Given the description of an element on the screen output the (x, y) to click on. 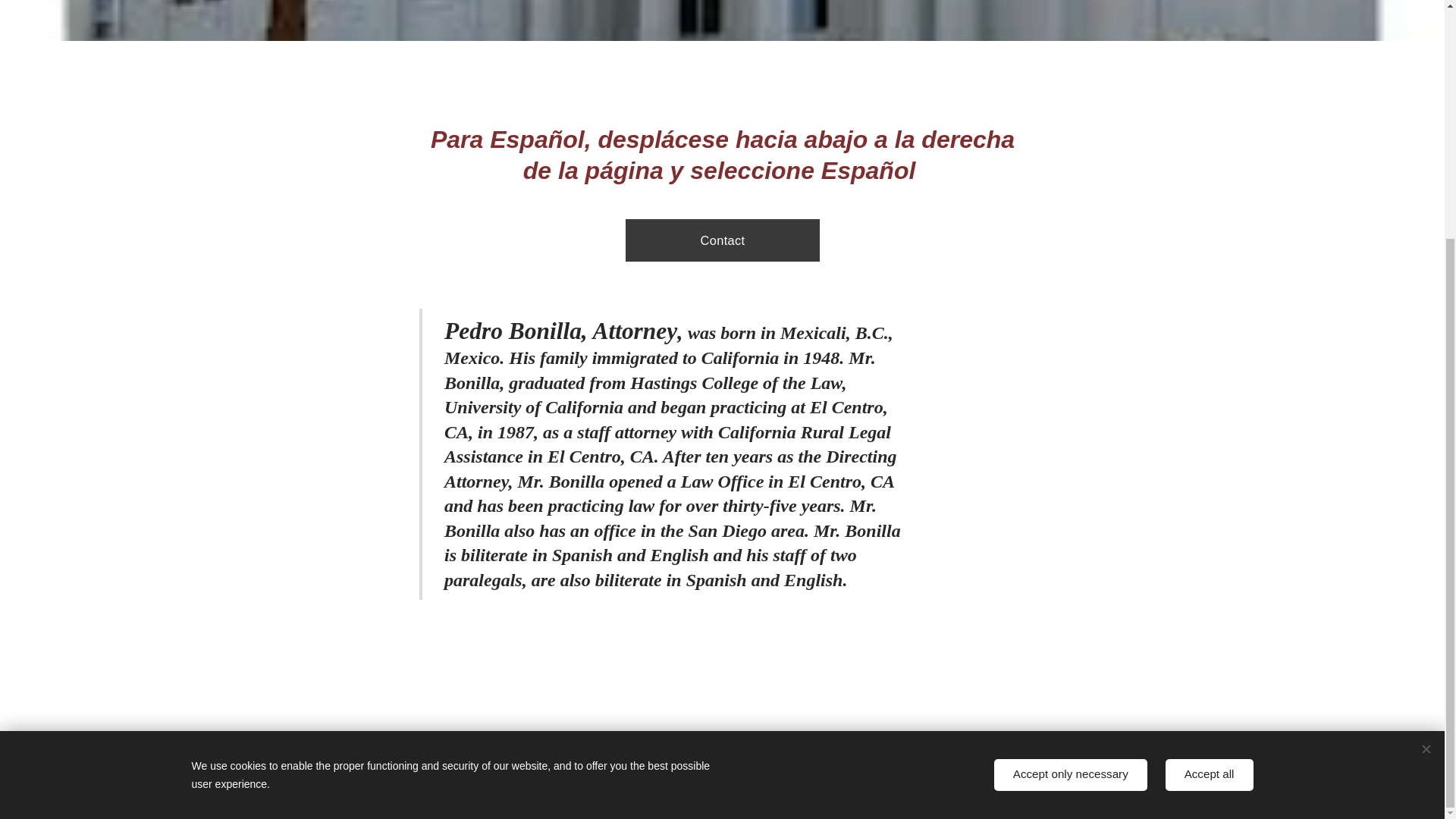
Accept only necessary (1070, 445)
Contact (721, 240)
Accept all (1209, 445)
